Given the description of an element on the screen output the (x, y) to click on. 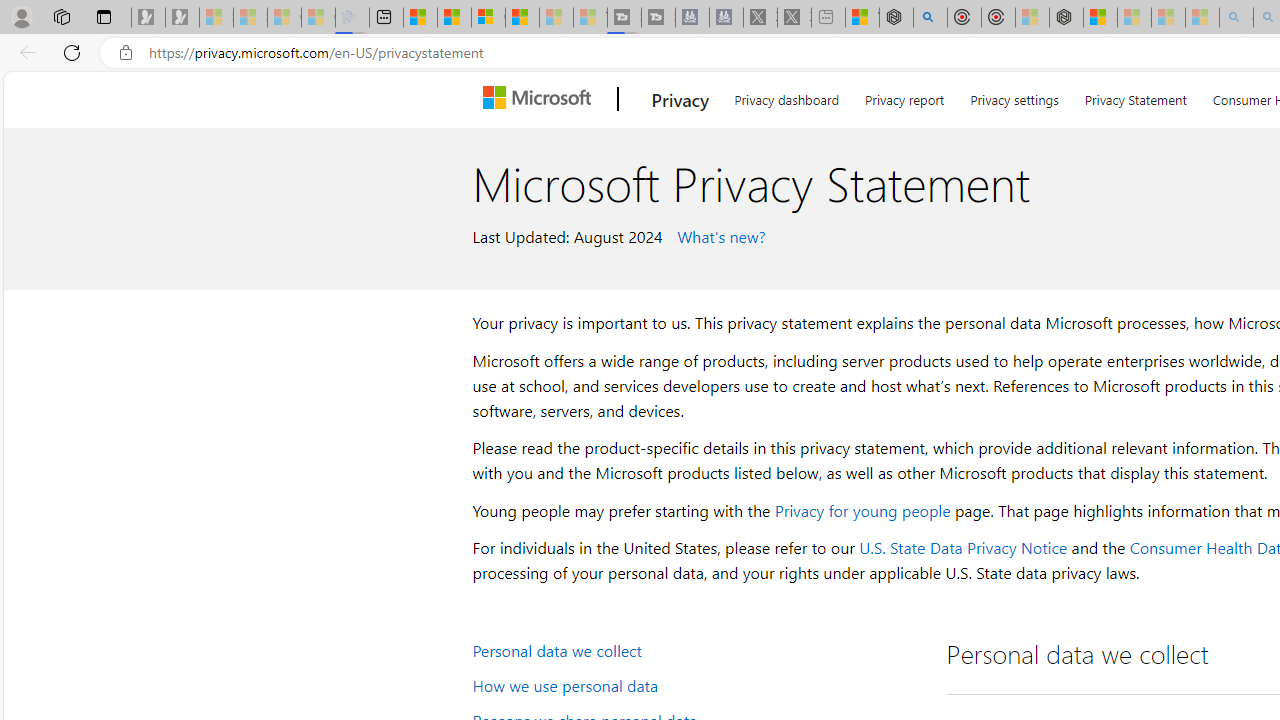
Microsoft (541, 99)
Privacy report (904, 96)
 What's new? (718, 235)
Nordace - Nordace Siena Is Not An Ordinary Backpack (1065, 17)
